Given the description of an element on the screen output the (x, y) to click on. 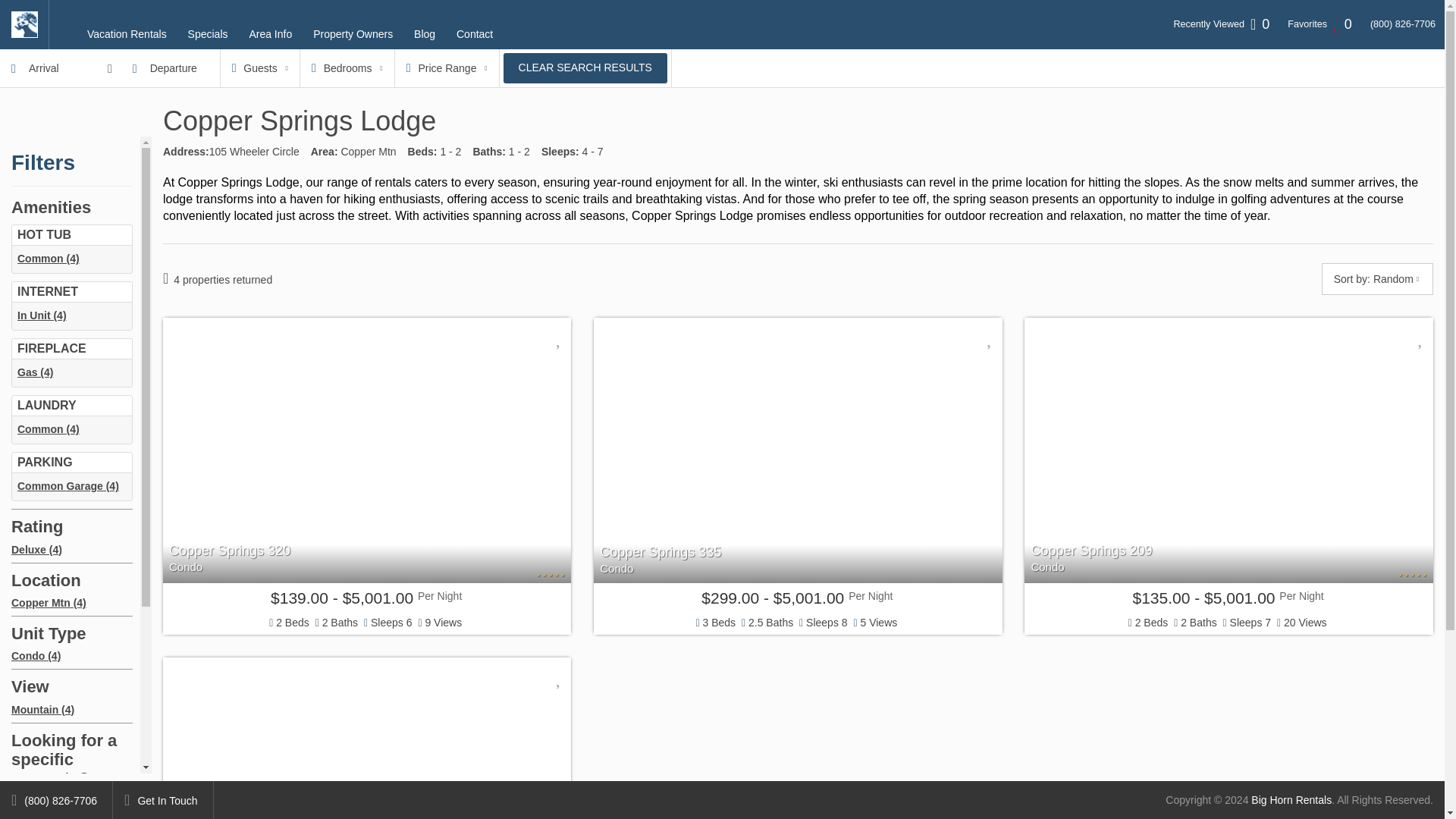
Area Info (270, 33)
Specials (208, 33)
Property Owners (352, 33)
Vacation Rentals (127, 33)
Recently Viewed 0 (1220, 24)
Contact (474, 33)
Favorites 0 (1319, 24)
